Given the description of an element on the screen output the (x, y) to click on. 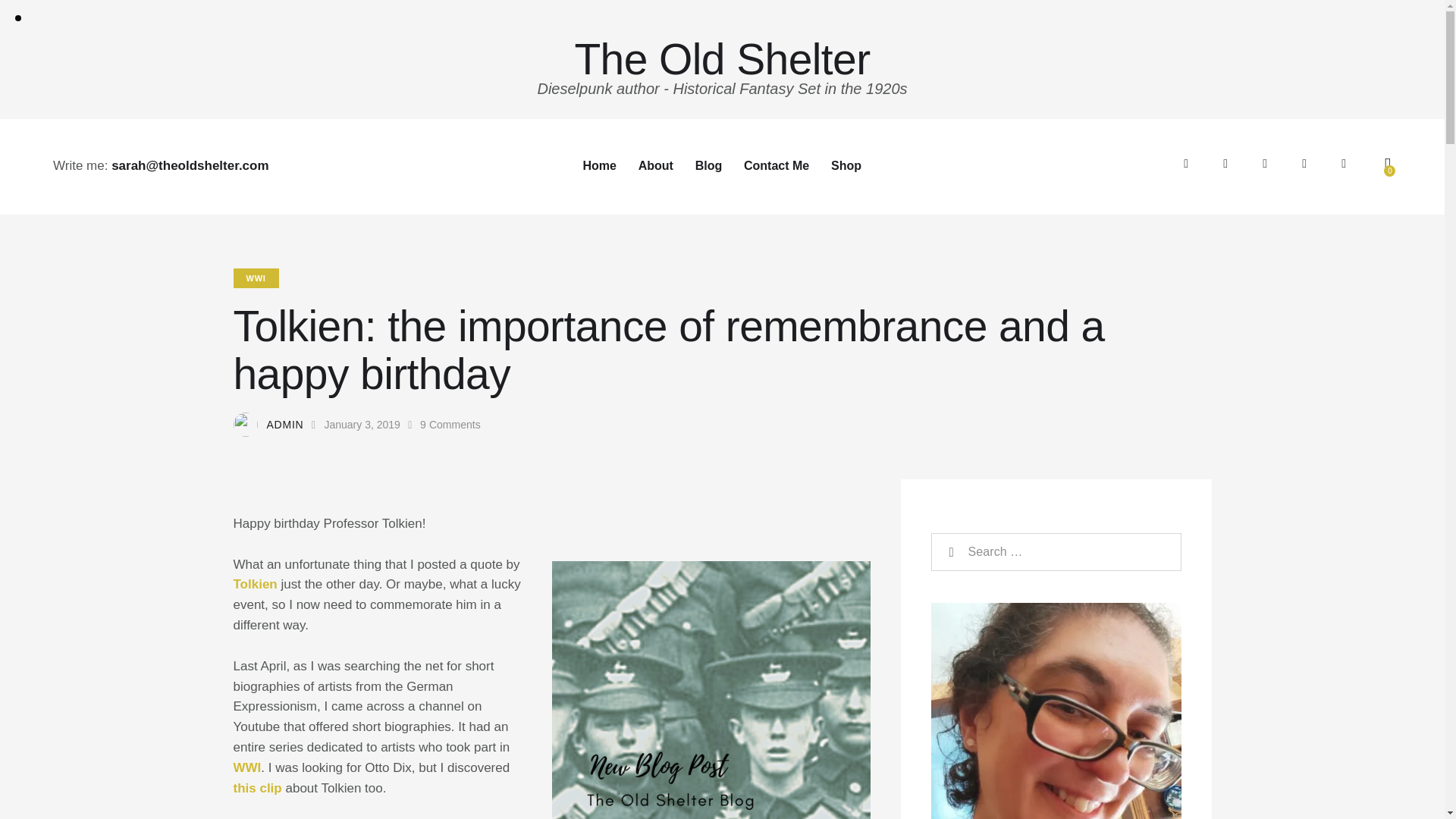
Shop (846, 166)
Contact Me (777, 166)
The Old Shelter (721, 59)
About (655, 166)
Blog (708, 166)
Home (599, 166)
